Given the description of an element on the screen output the (x, y) to click on. 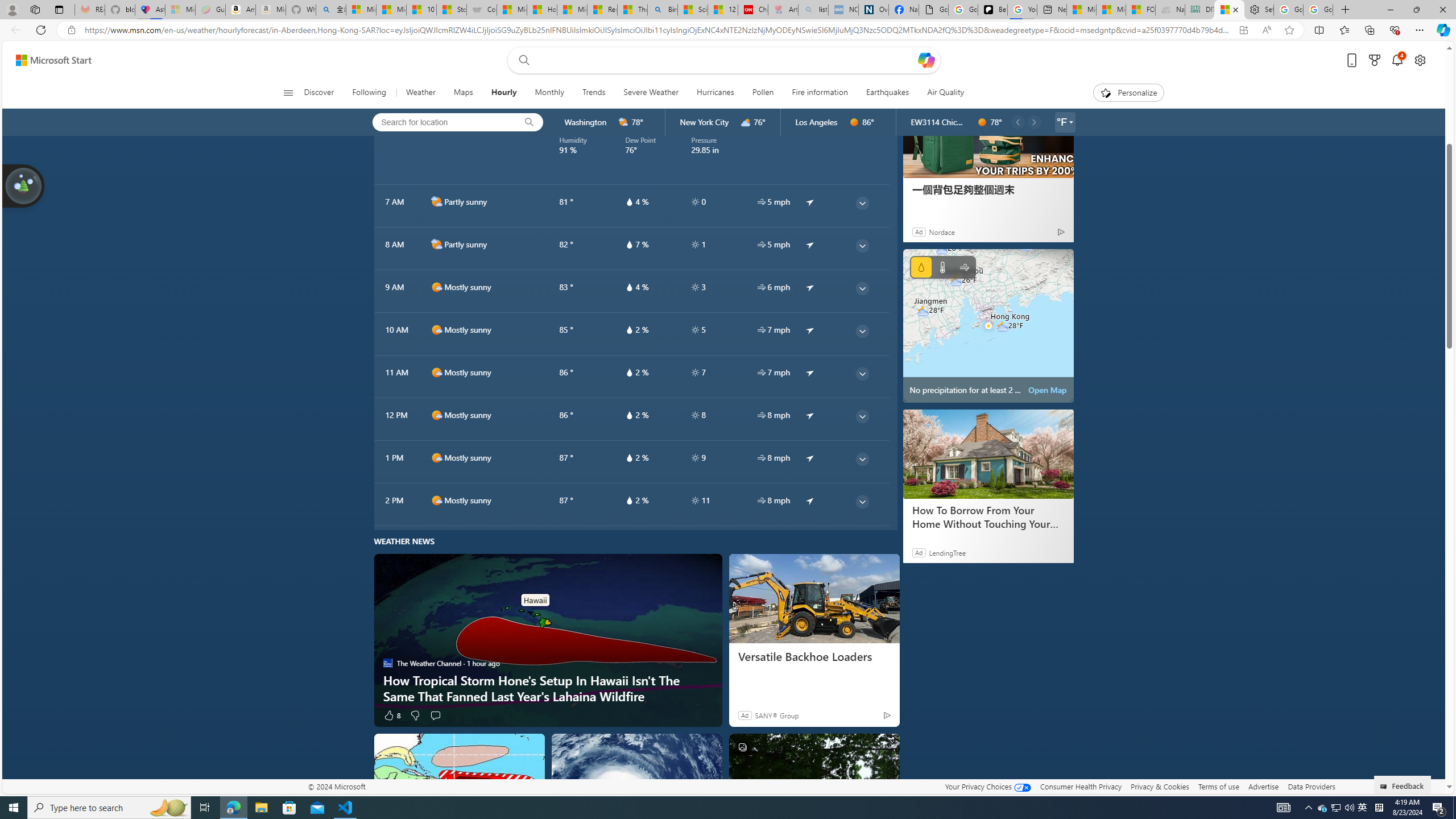
d3000 (746, 121)
Enter your search term (726, 59)
Privacy & Cookies (1160, 786)
Weather (420, 92)
Google Analytics Opt-out Browser Add-on Download Page (933, 9)
hourlyTable/drop (628, 500)
Your Privacy Choices (987, 786)
Skip to content (49, 59)
locationBar/triangle (1070, 122)
